Given the description of an element on the screen output the (x, y) to click on. 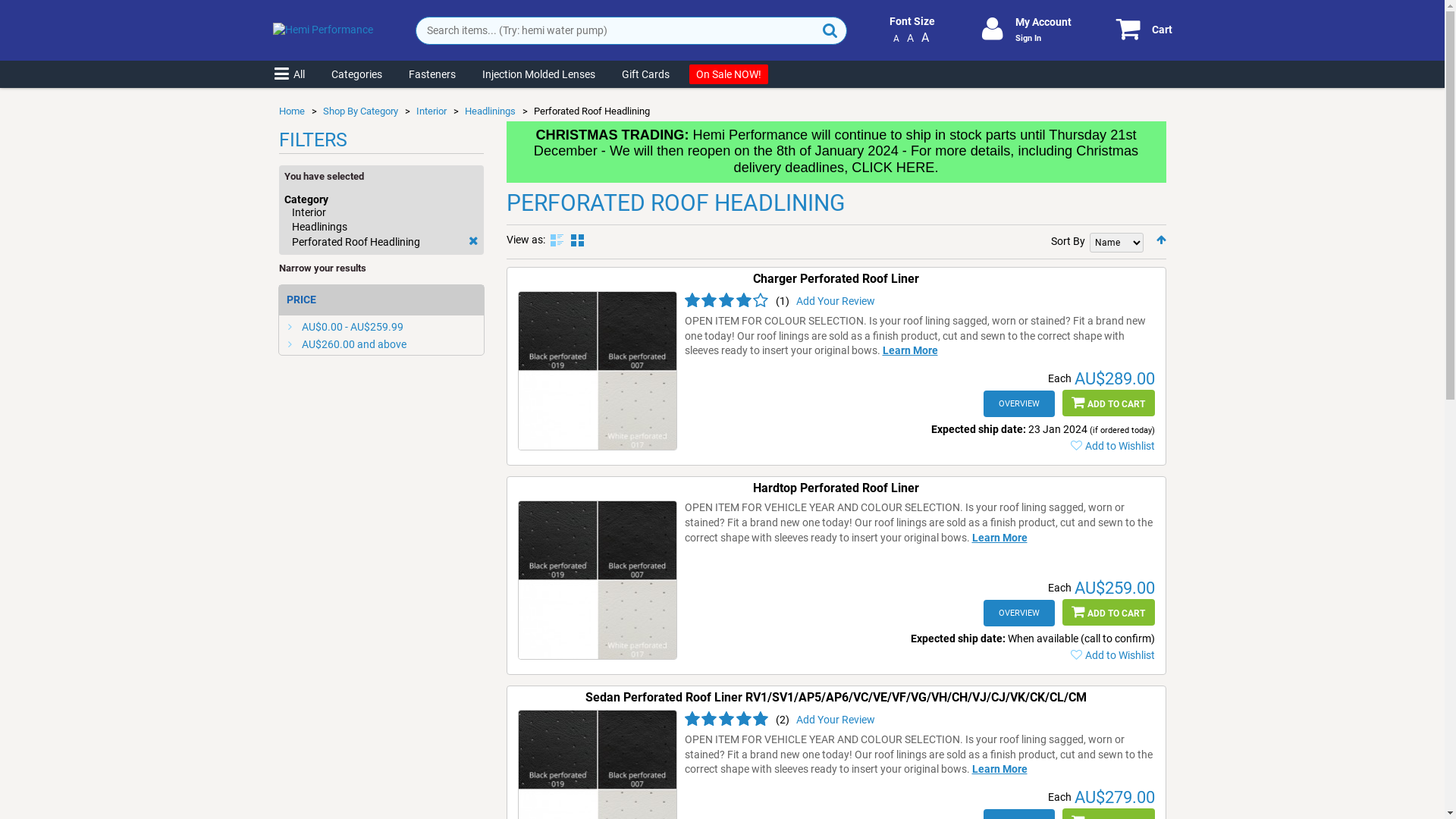
Interior Element type: text (430, 110)
Set Descending Direction Element type: hover (1160, 239)
AU$260.00 and above Element type: text (353, 344)
Gift Cards Element type: text (644, 74)
Headlinings Element type: text (489, 110)
Hardtop Perforated Roof Liner Element type: hover (596, 579)
Learn More Element type: text (999, 537)
Search Element type: hover (830, 30)
OVERVIEW Element type: text (1018, 612)
Add to Wishlist Element type: text (1110, 445)
Add to Wishlist Element type: text (1110, 655)
Cart Element type: text (1134, 30)
All Element type: text (288, 74)
Grid Element type: text (576, 240)
Charger Perforated Roof Liner Element type: hover (596, 370)
AU$0.00 - AU$259.99 Element type: text (352, 326)
OVERVIEW Element type: text (1018, 403)
Sign In Element type: text (1027, 38)
Home Element type: text (291, 110)
Charger Perforated Roof Liner Element type: text (836, 278)
Learn More Element type: text (910, 350)
Hemi Performance Element type: hover (323, 29)
Remove This Item Element type: text (473, 241)
Injection Molded Lenses Element type: text (537, 74)
Add Your Review Element type: text (835, 300)
Categories Element type: text (356, 74)
ADD TO CART Element type: text (1107, 402)
Add Your Review Element type: text (835, 719)
Shop By Category Element type: text (360, 110)
Learn More Element type: text (999, 768)
My Account Element type: text (1042, 21)
ADD TO CART Element type: text (1107, 612)
On Sale Element type: text (727, 74)
Cart Element type: text (1161, 29)
Hardtop Perforated Roof Liner Element type: text (836, 487)
Fasteners Element type: text (431, 74)
